Given the description of an element on the screen output the (x, y) to click on. 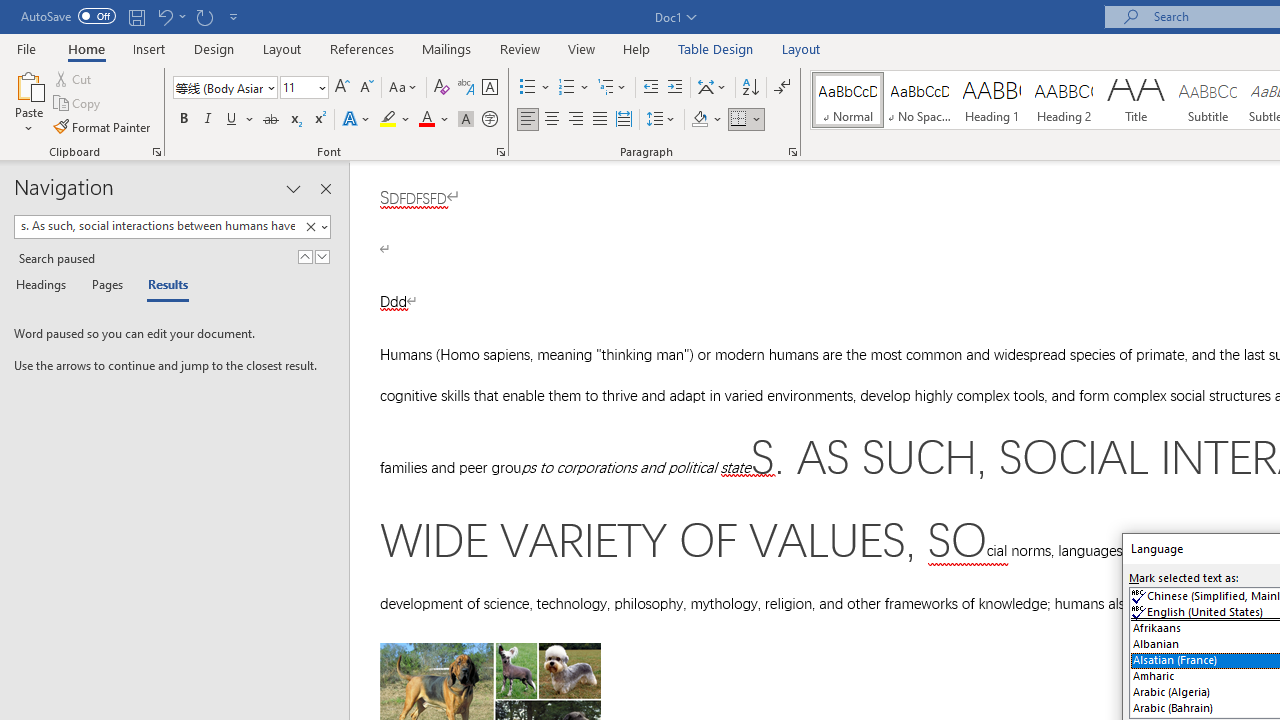
Underline (239, 119)
Bullets (535, 87)
Class: NetUIImage (310, 226)
Undo Style (170, 15)
Shrink Font (365, 87)
Open (320, 87)
Bold (183, 119)
Quick Access Toolbar (131, 16)
Paragraph... (792, 151)
Mailings (447, 48)
Numbering (566, 87)
Format Painter (103, 126)
Shading RGB(0, 0, 0) (699, 119)
Layout (801, 48)
Text Highlight Color Yellow (388, 119)
